Given the description of an element on the screen output the (x, y) to click on. 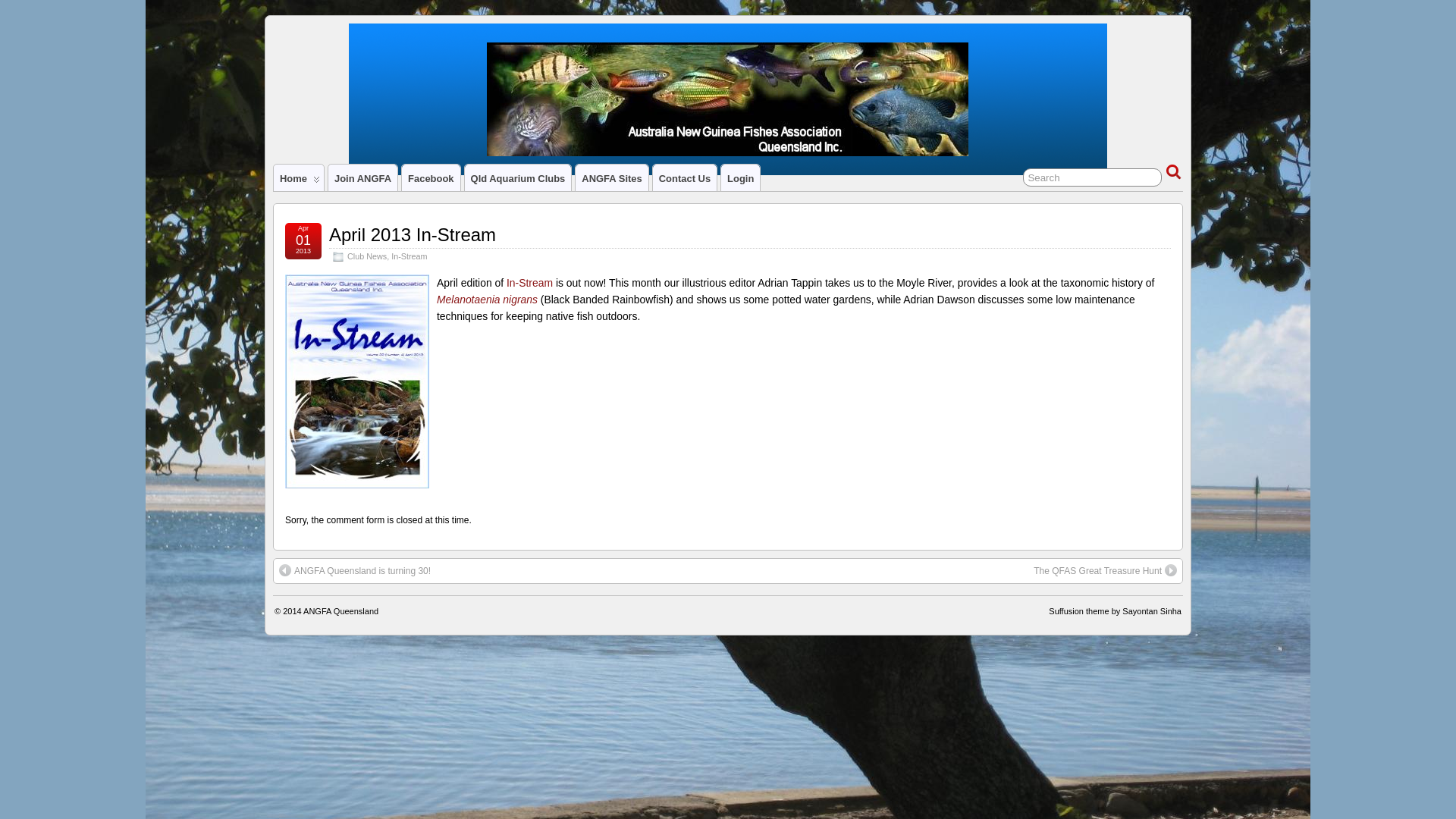
In-Stream 22:04 - April 2013 Element type: hover (357, 381)
Suffusion theme by Sayontan Sinha Element type: text (1114, 610)
ANGFA Queensland Element type: text (340, 610)
In-Stream Element type: text (529, 282)
ANGFA Sites Element type: text (611, 177)
April 2013 In-Stream Element type: text (412, 234)
 Home Element type: text (298, 177)
Facebook Element type: text (430, 177)
  The QFAS Great Treasure Hunt Element type: text (1104, 570)
Club News Element type: text (366, 255)
Qld Aquarium Clubs Element type: text (517, 177)
Melanotaenia nigrans Element type: text (486, 299)
  ANGFA Queensland is turning 30! Element type: text (354, 570)
In-Stream Element type: text (408, 255)
Join ANGFA Element type: text (362, 177)
ANGFA Queensland Element type: text (354, 70)
Contact Us Element type: text (684, 177)
Login Element type: text (740, 177)
